Given the description of an element on the screen output the (x, y) to click on. 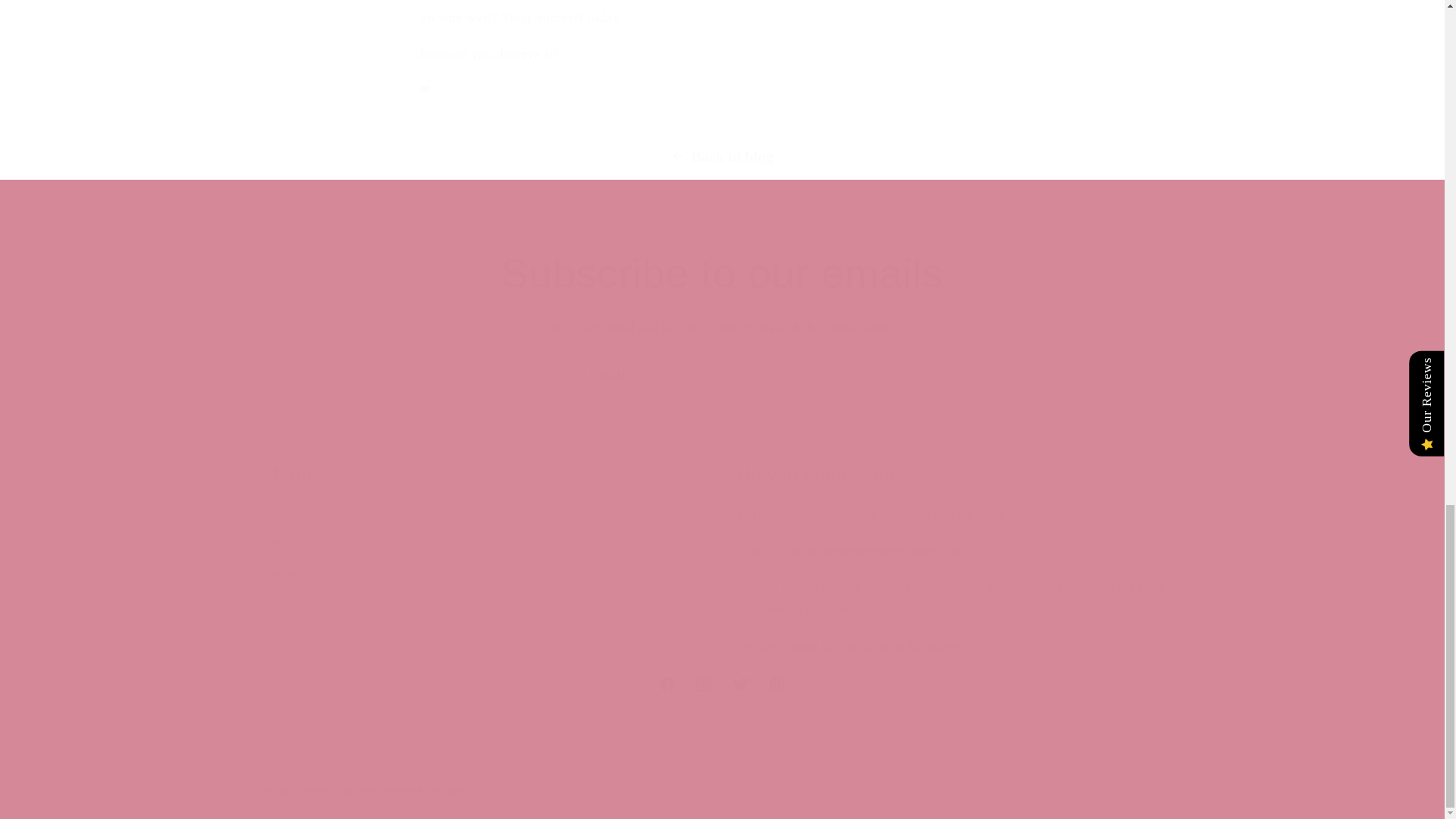
Subscribe to our emails (722, 273)
Email (485, 560)
